Given the description of an element on the screen output the (x, y) to click on. 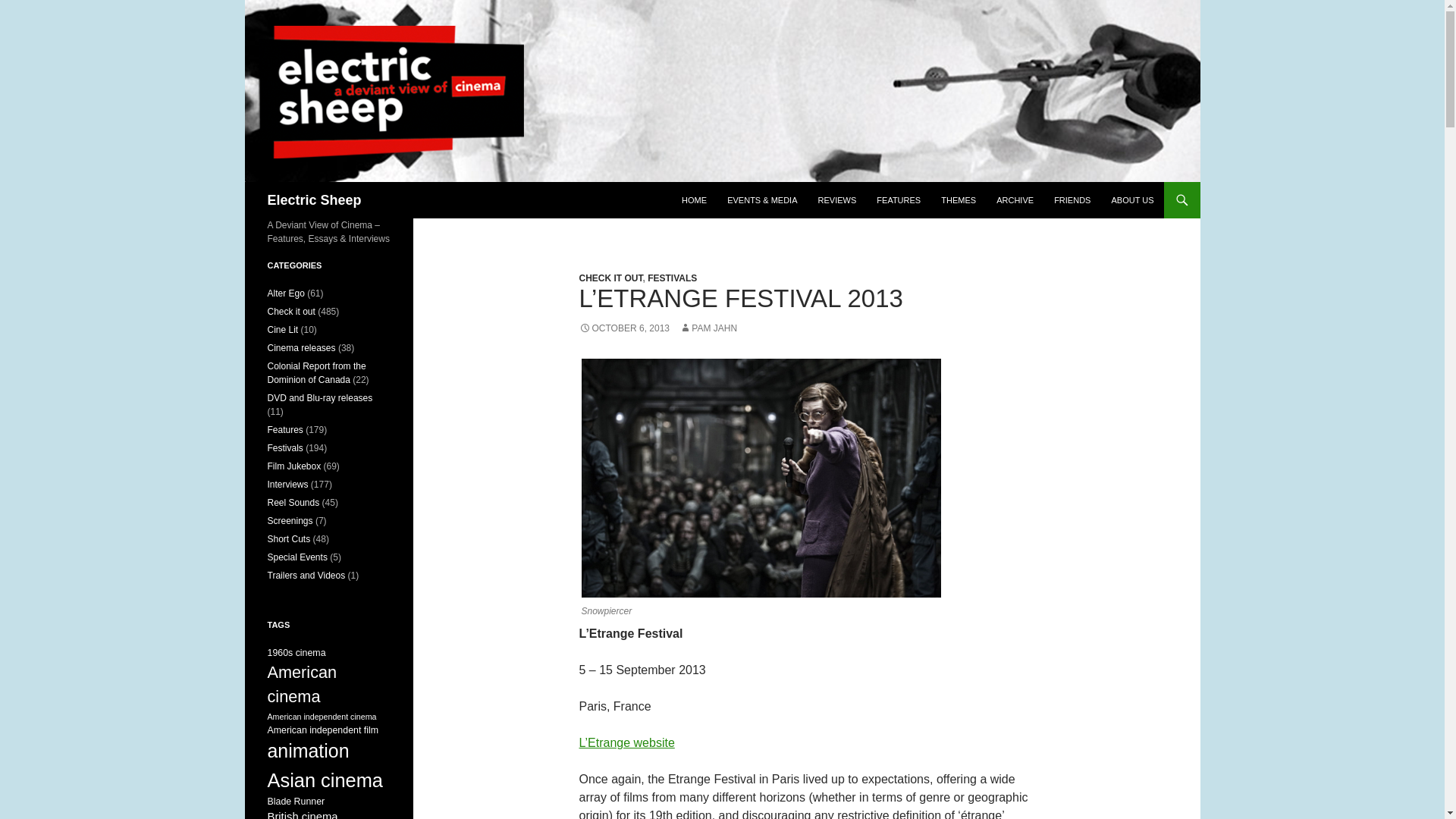
CHECK IT OUT (611, 277)
FEATURES (898, 199)
ABOUT US (1131, 199)
ARCHIVE (1014, 199)
Cine Lit (282, 329)
Alter Ego (285, 293)
THEMES (958, 199)
OCTOBER 6, 2013 (624, 327)
Check it out (290, 311)
FESTIVALS (672, 277)
Electric Sheep (313, 199)
PAM JAHN (707, 327)
FRIENDS (1072, 199)
HOME (694, 199)
